Given the description of an element on the screen output the (x, y) to click on. 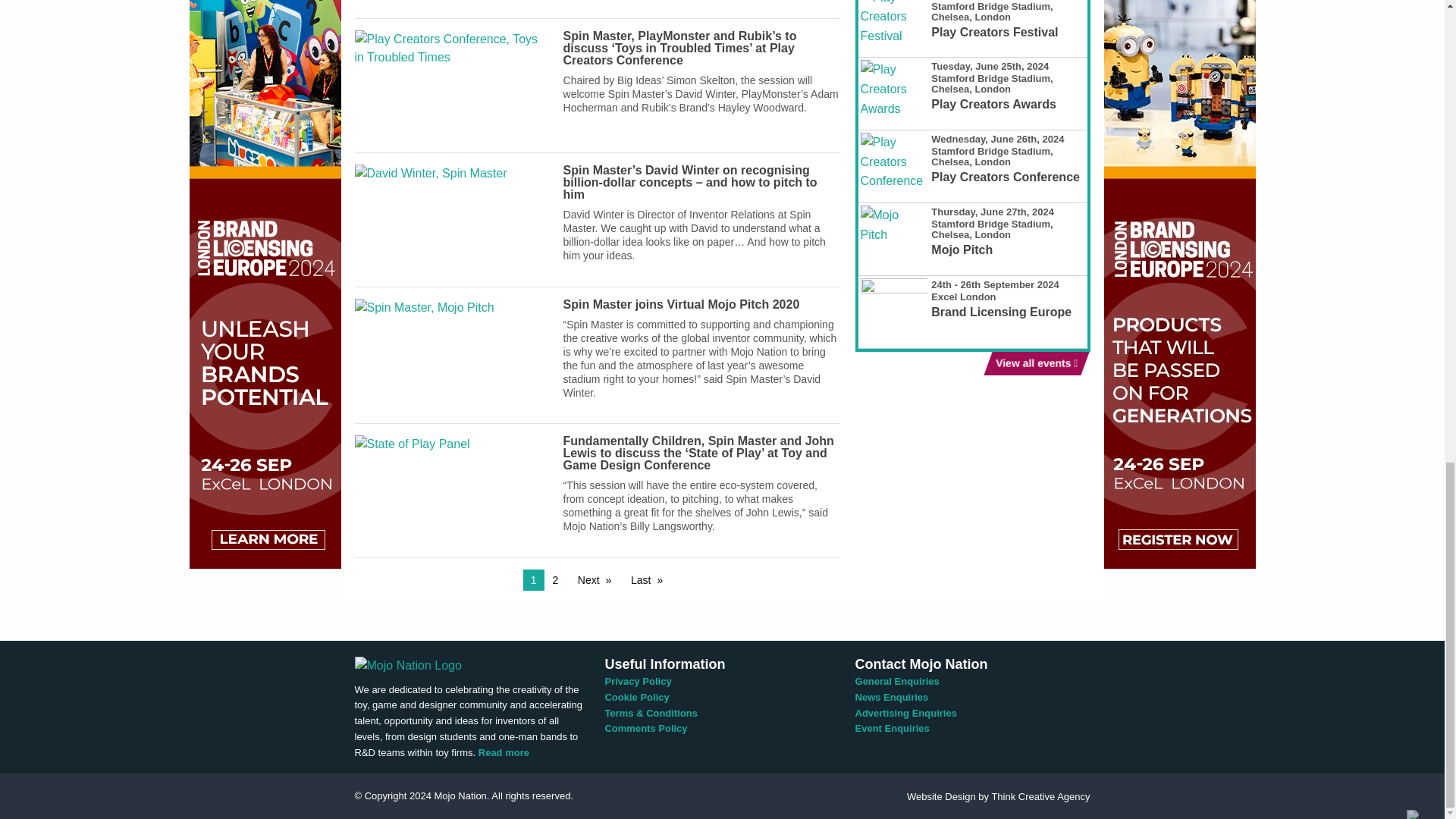
Watch: Toys in Troubled Times (451, 2)
